Given the description of an element on the screen output the (x, y) to click on. 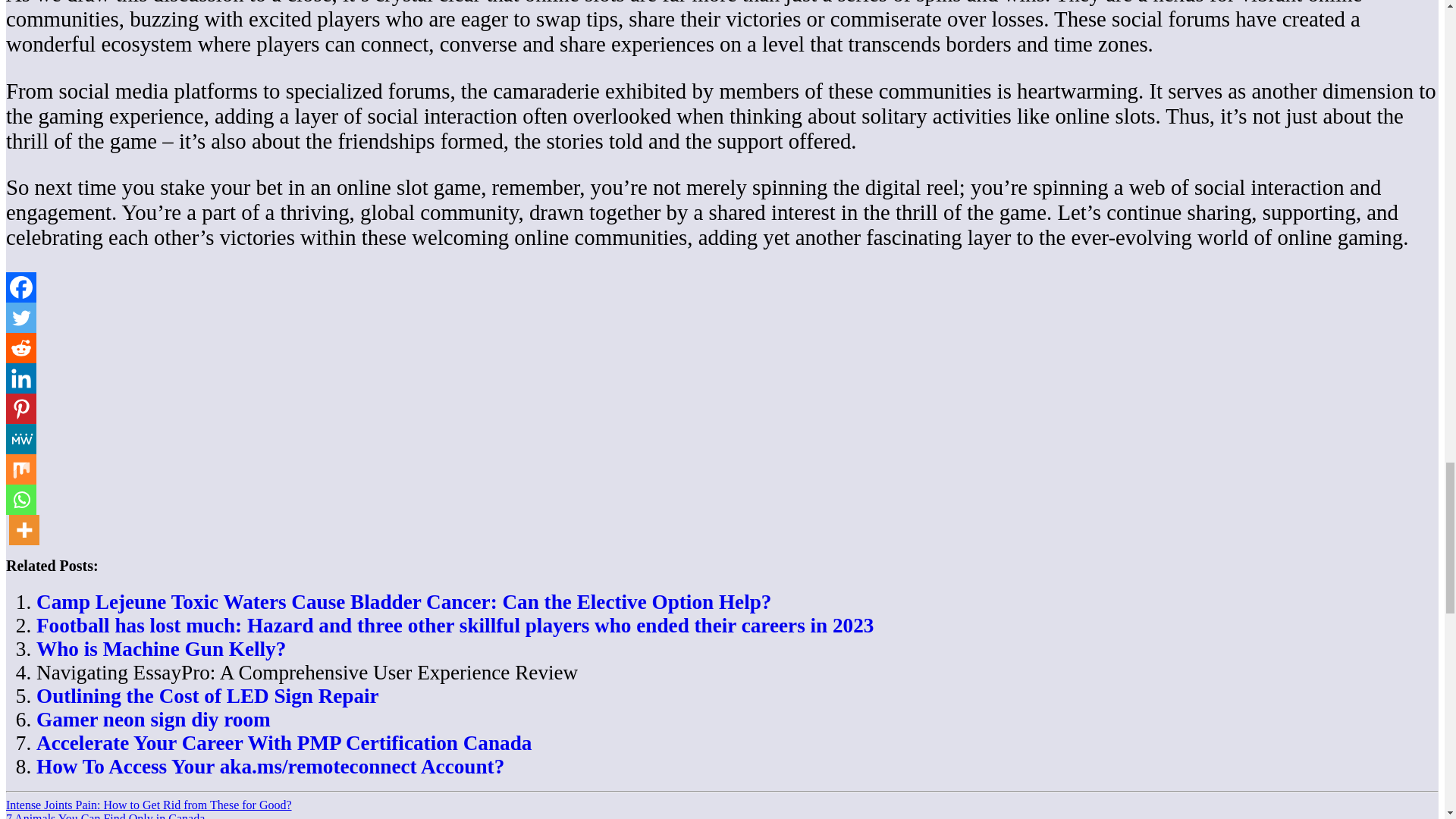
Facebook (20, 286)
Who is Machine Gun Kelly? (160, 649)
Twitter (20, 317)
Linkedin (20, 378)
Outlining the Cost of LED Sign Repair (207, 695)
Reddit (20, 347)
